Given the description of an element on the screen output the (x, y) to click on. 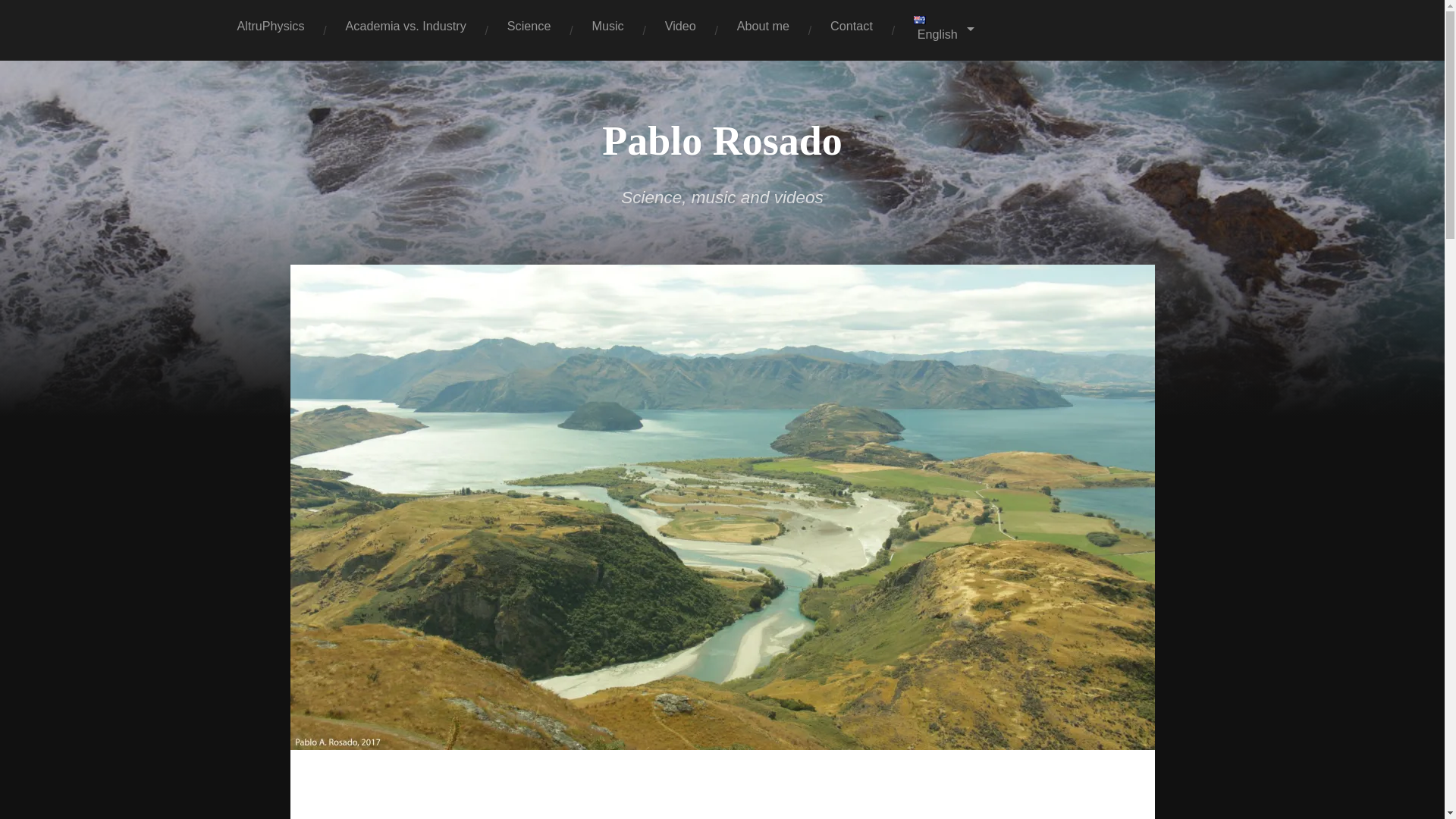
AltruPhysics (270, 26)
Contact (851, 26)
About me (762, 26)
Pablo Rosado (722, 140)
English (942, 30)
Academia vs. Industry (405, 26)
Science (529, 26)
Video (680, 26)
Music (606, 26)
